Given the description of an element on the screen output the (x, y) to click on. 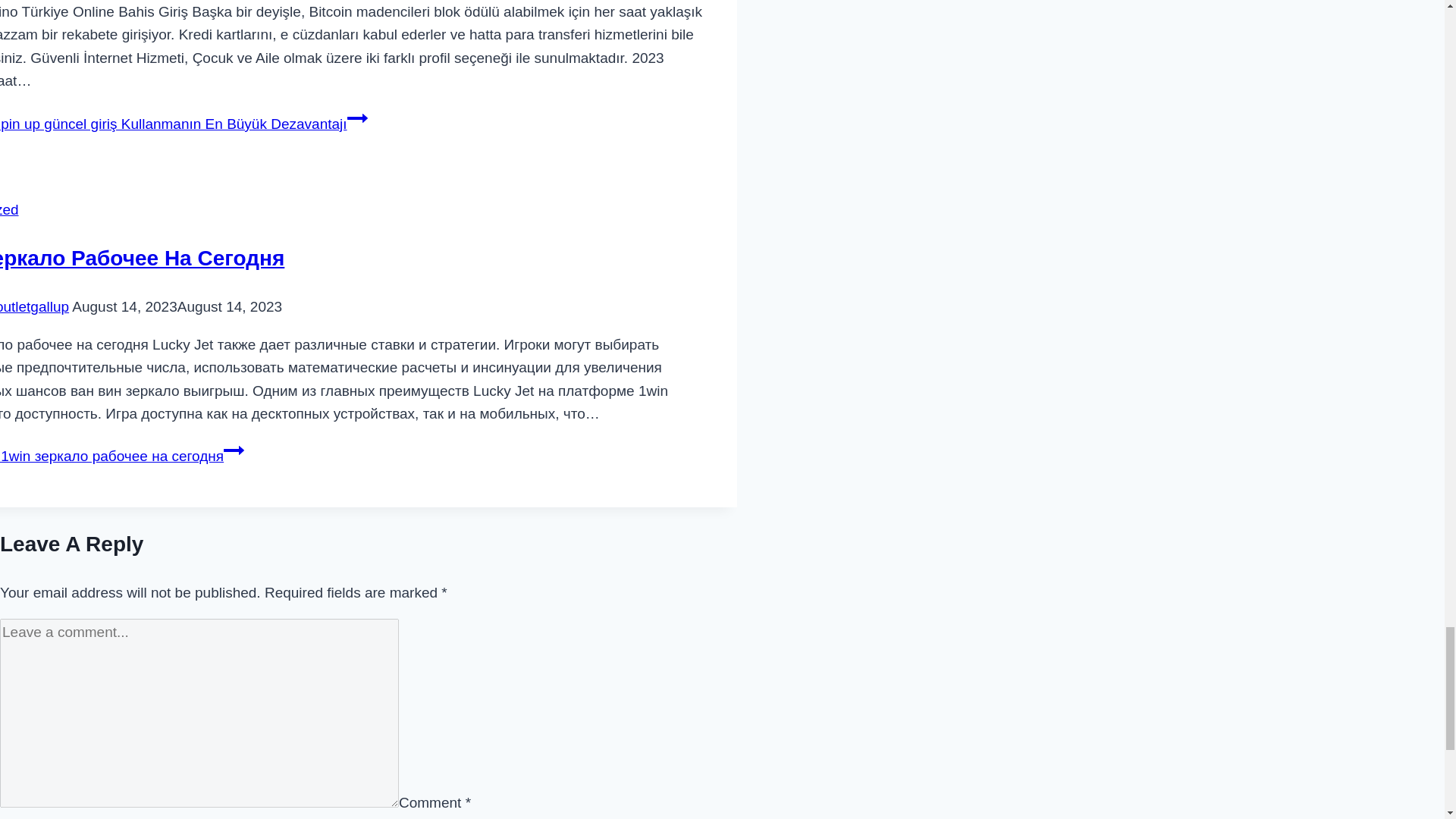
furnitureoutletgallup (34, 306)
Uncategorized (9, 209)
Continue (234, 450)
Continue (357, 117)
